Given the description of an element on the screen output the (x, y) to click on. 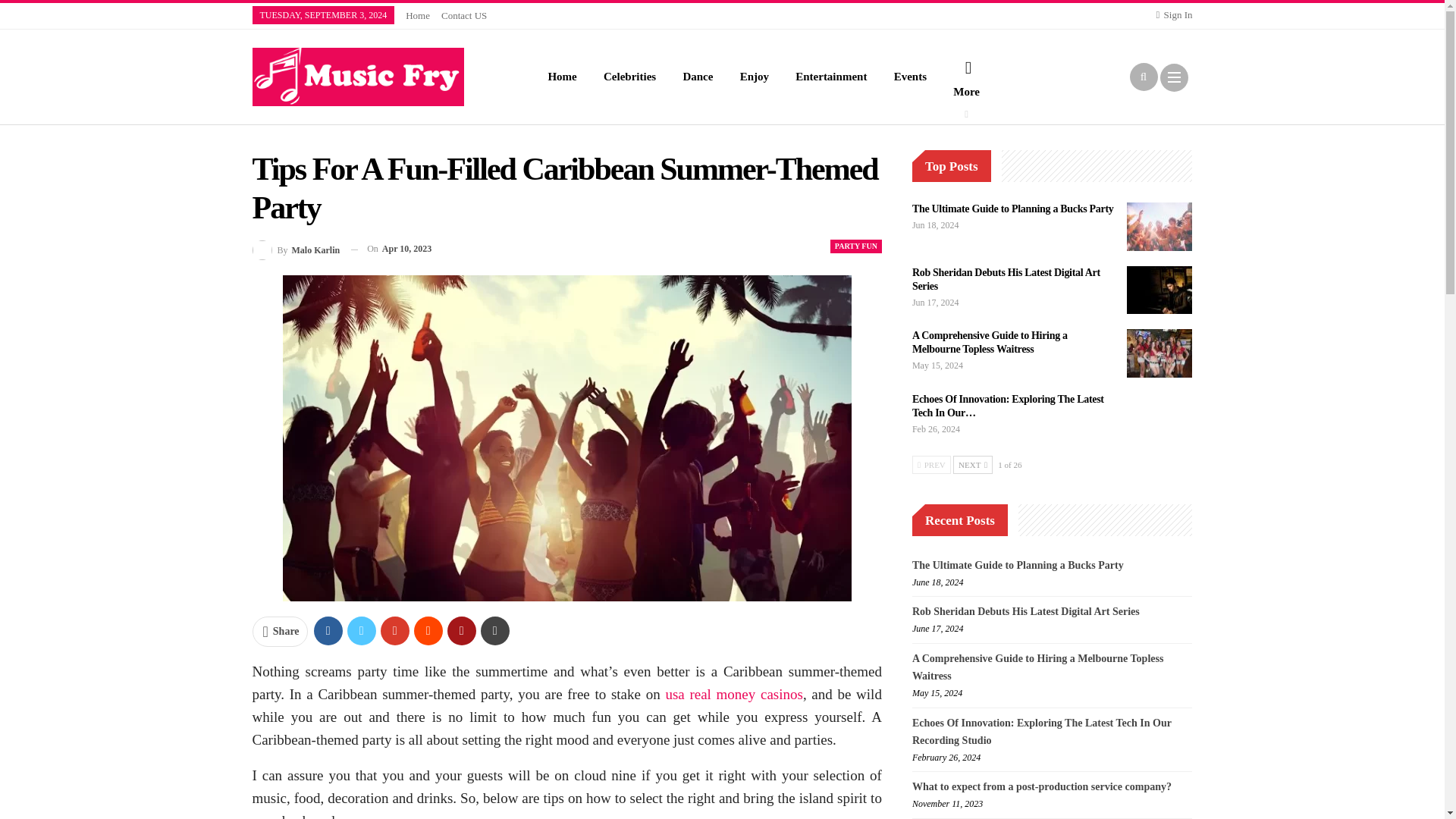
Sign In (1174, 14)
usa real money casinos (734, 693)
Contact US (463, 15)
Home (417, 15)
Browse Author Articles (295, 249)
By Malo Karlin (295, 249)
PARTY FUN (855, 246)
Entertainment (831, 76)
The Ultimate Guide to Planning a Bucks Party (1159, 226)
